Given the description of an element on the screen output the (x, y) to click on. 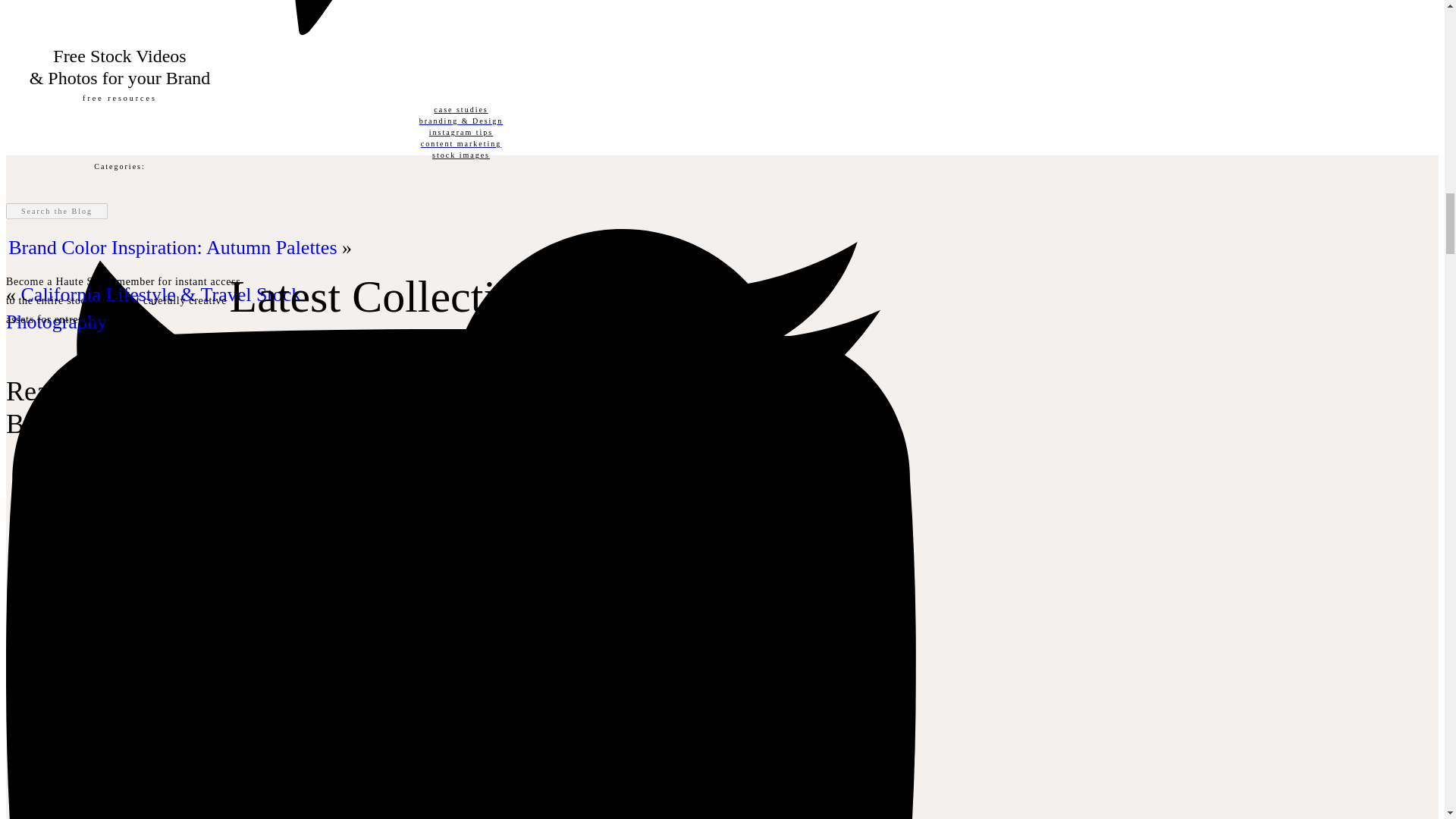
case studies (460, 109)
content marketing (460, 143)
Brand Color Inspiration: Autumn Palettes (172, 247)
stock images (460, 154)
instagram tips (460, 132)
